Given the description of an element on the screen output the (x, y) to click on. 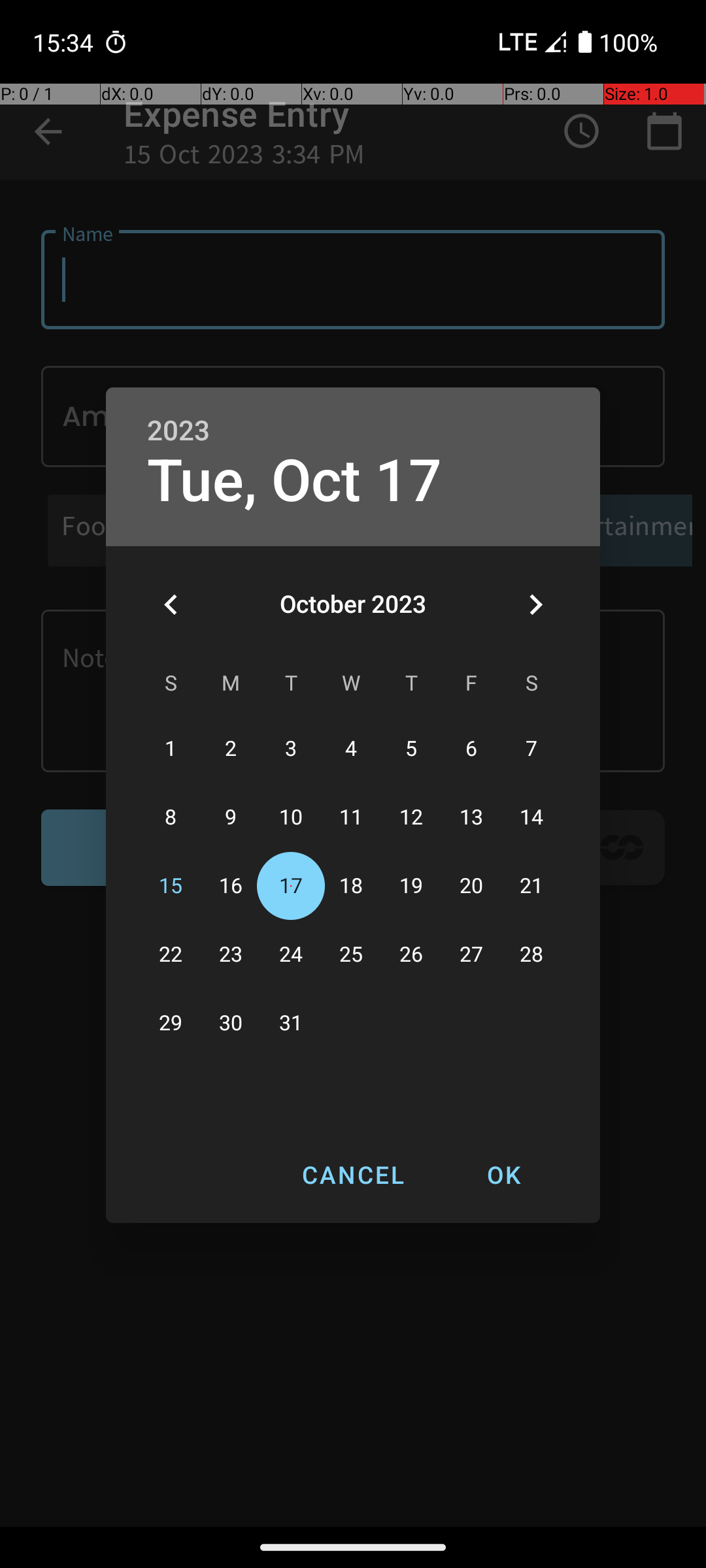
Tue, Oct 17 Element type: android.widget.TextView (294, 480)
